Given the description of an element on the screen output the (x, y) to click on. 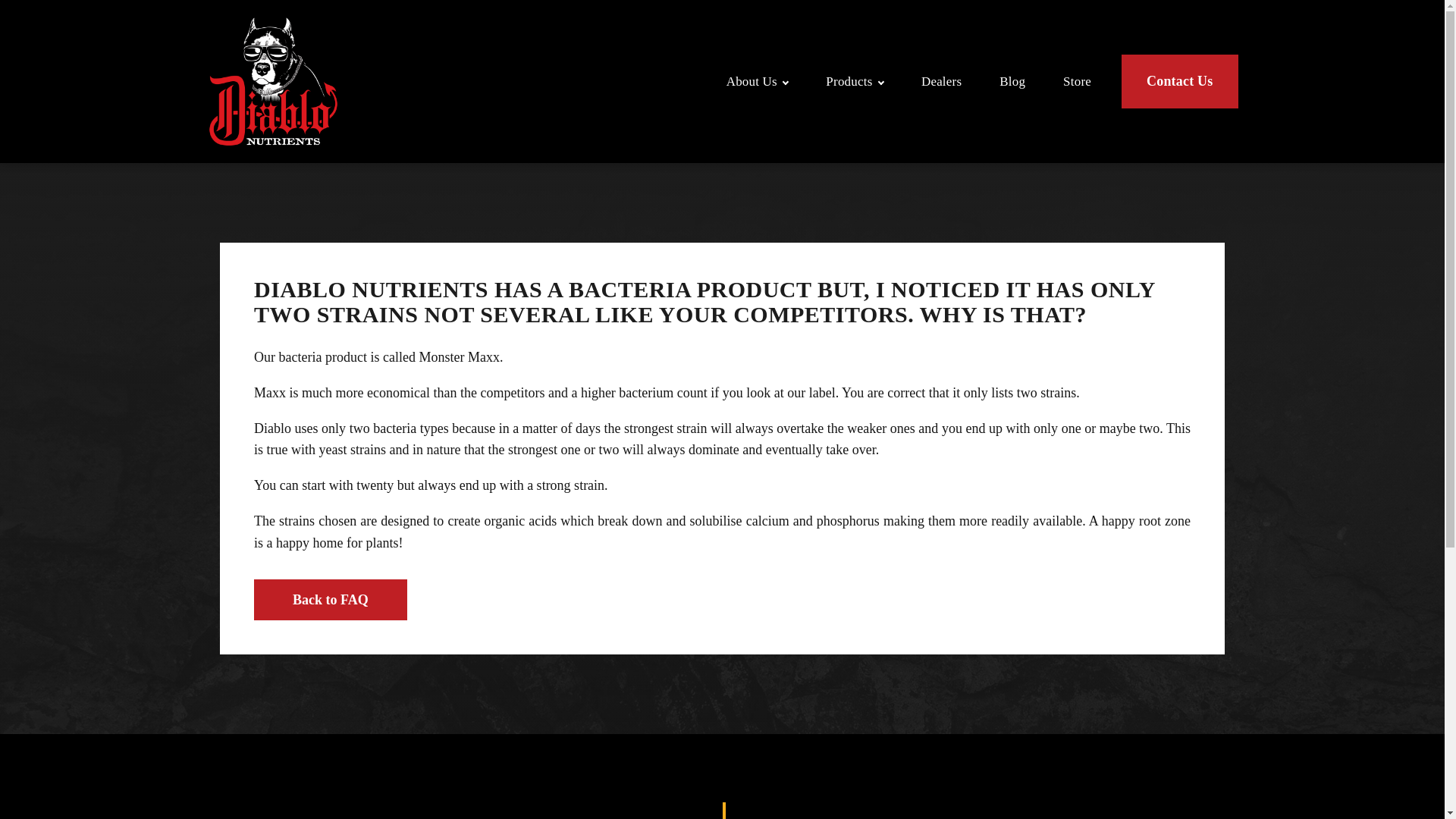
Store (1077, 81)
About Us (757, 81)
Dealers (940, 81)
Products (854, 81)
Back to FAQ (330, 599)
Contact Us (1180, 81)
Blog (1012, 81)
